Given the description of an element on the screen output the (x, y) to click on. 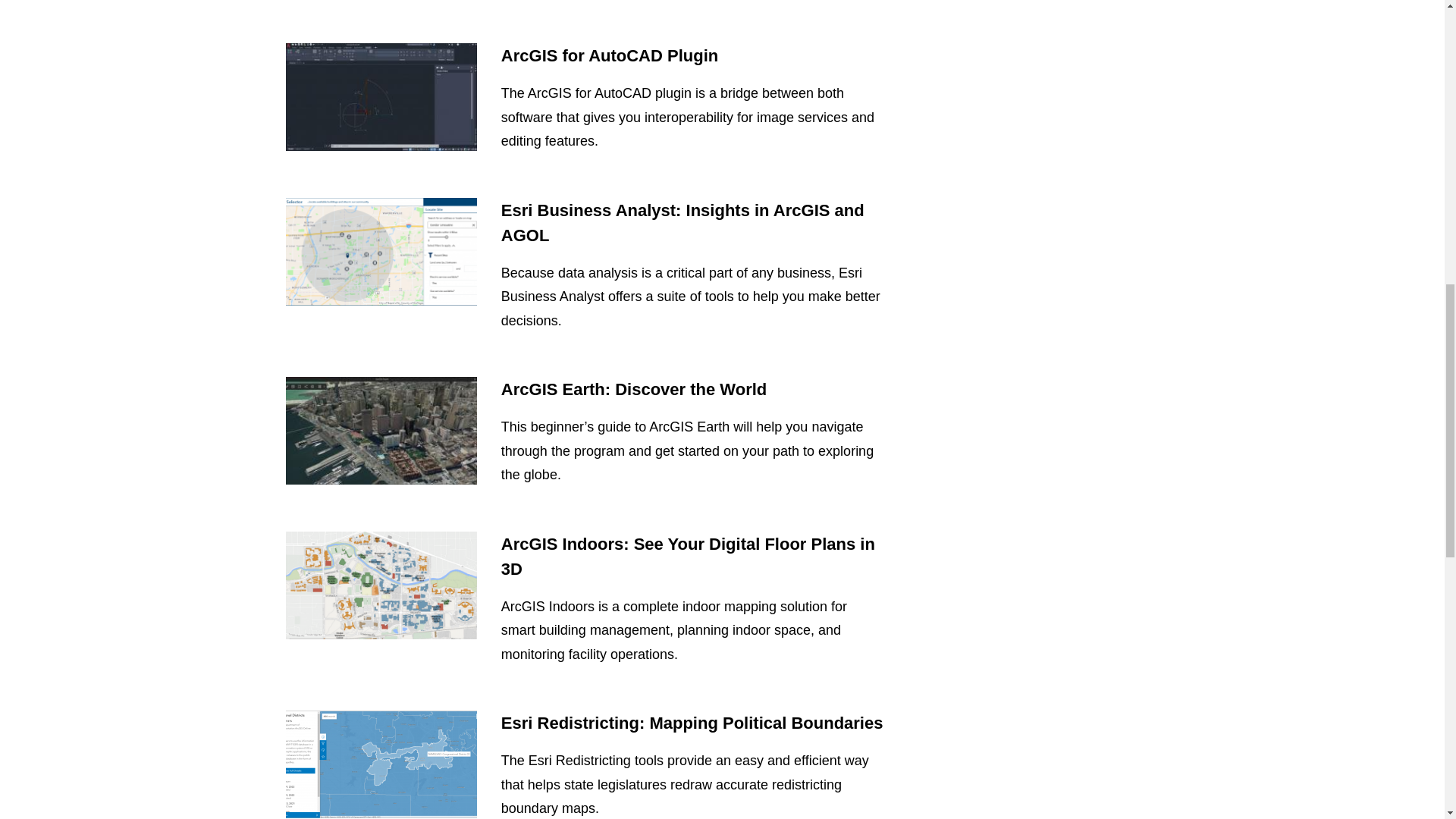
ArcGIS for AutoCAD Plugin (608, 55)
ArcGIS Earth: Discover the World (633, 389)
Esri Redistricting: Mapping Political Boundaries (691, 722)
ArcGIS Indoors: See Your Digital Floor Plans in 3D (687, 556)
Esri Business Analyst: Insights in ArcGIS and AGOL (682, 222)
